Given the description of an element on the screen output the (x, y) to click on. 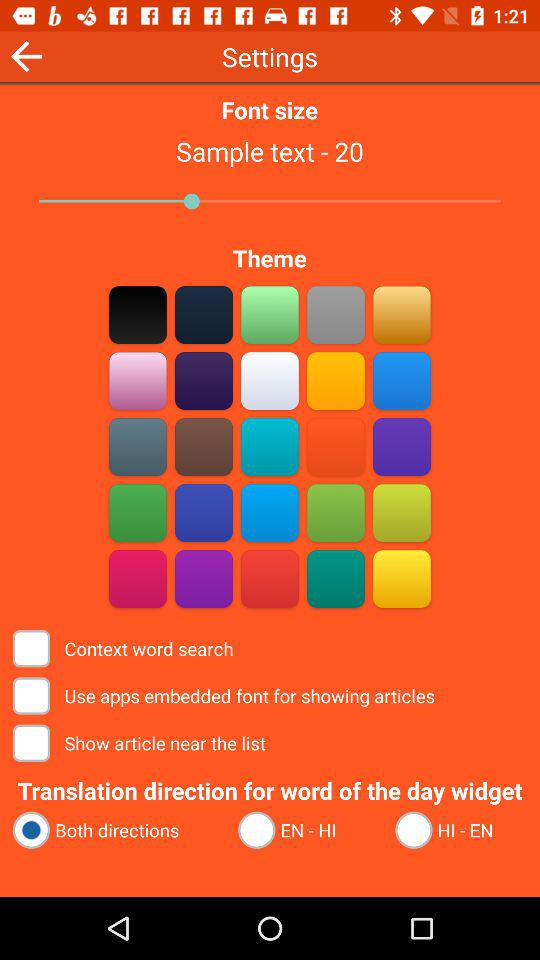
select purple option (203, 578)
